Given the description of an element on the screen output the (x, y) to click on. 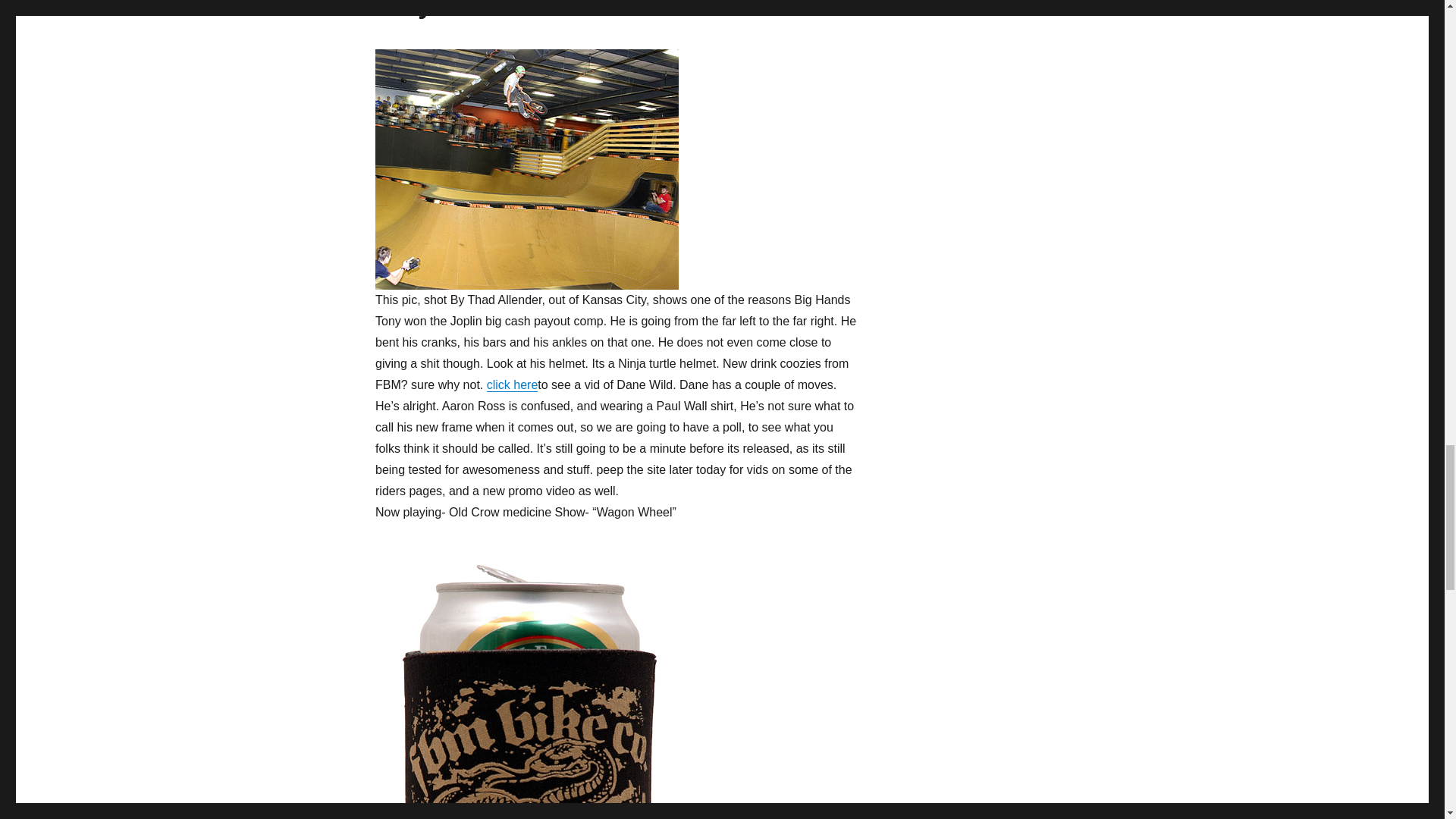
click here (512, 384)
